Given the description of an element on the screen output the (x, y) to click on. 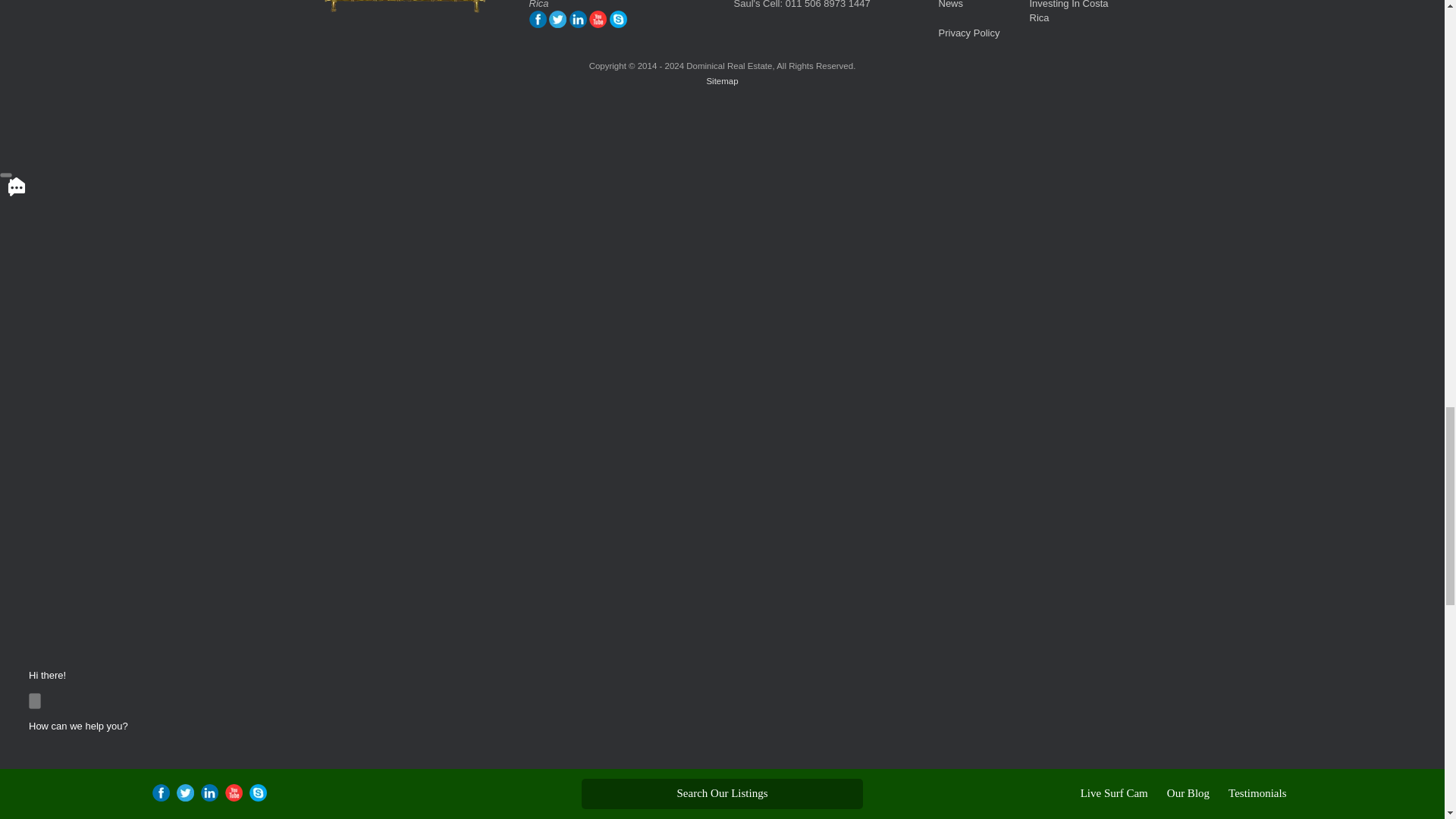
our linkedin (577, 24)
our facebook (538, 24)
our youtube (598, 24)
our phone number (618, 24)
our twitter (557, 24)
